Given the description of an element on the screen output the (x, y) to click on. 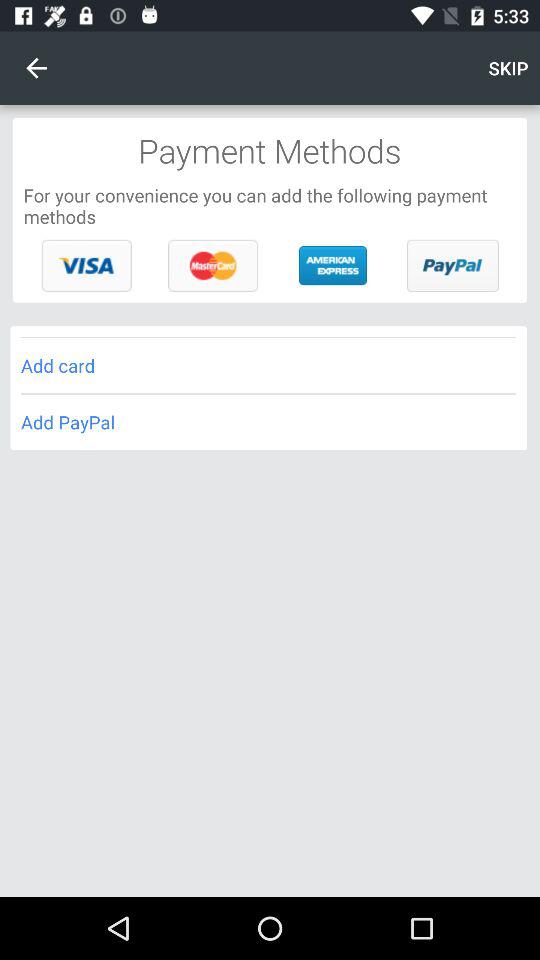
scroll to add card item (268, 365)
